Given the description of an element on the screen output the (x, y) to click on. 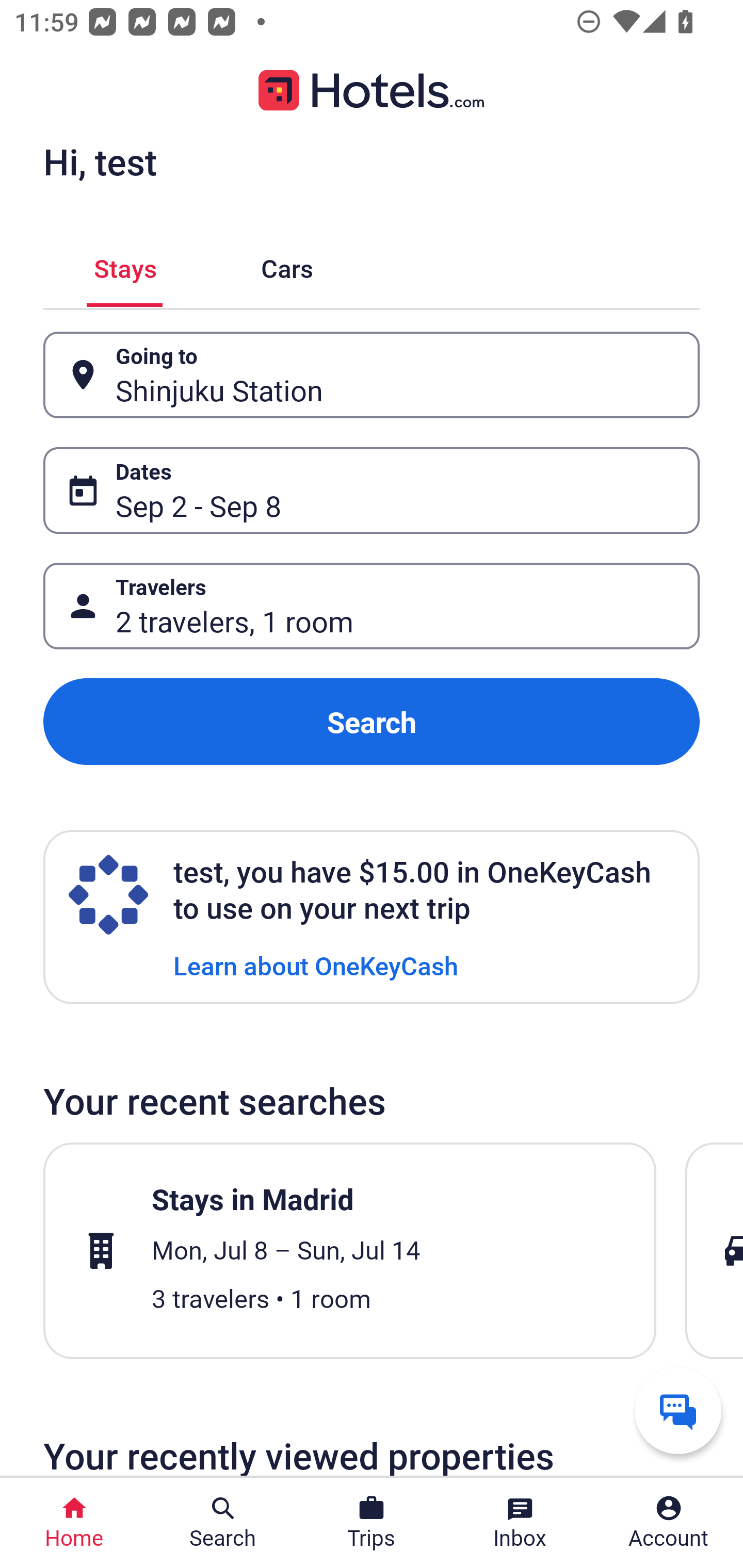
Hi, test (99, 161)
Cars (286, 265)
Going to Button Shinjuku Station (371, 375)
Dates Button Sep 2 - Sep 8 (371, 489)
Travelers Button 2 travelers, 1 room (371, 605)
Search (371, 721)
Learn about OneKeyCash Learn about OneKeyCash Link (315, 964)
Get help from a virtual agent (677, 1410)
Search Search Button (222, 1522)
Trips Trips Button (371, 1522)
Inbox Inbox Button (519, 1522)
Account Profile. Button (668, 1522)
